Given the description of an element on the screen output the (x, y) to click on. 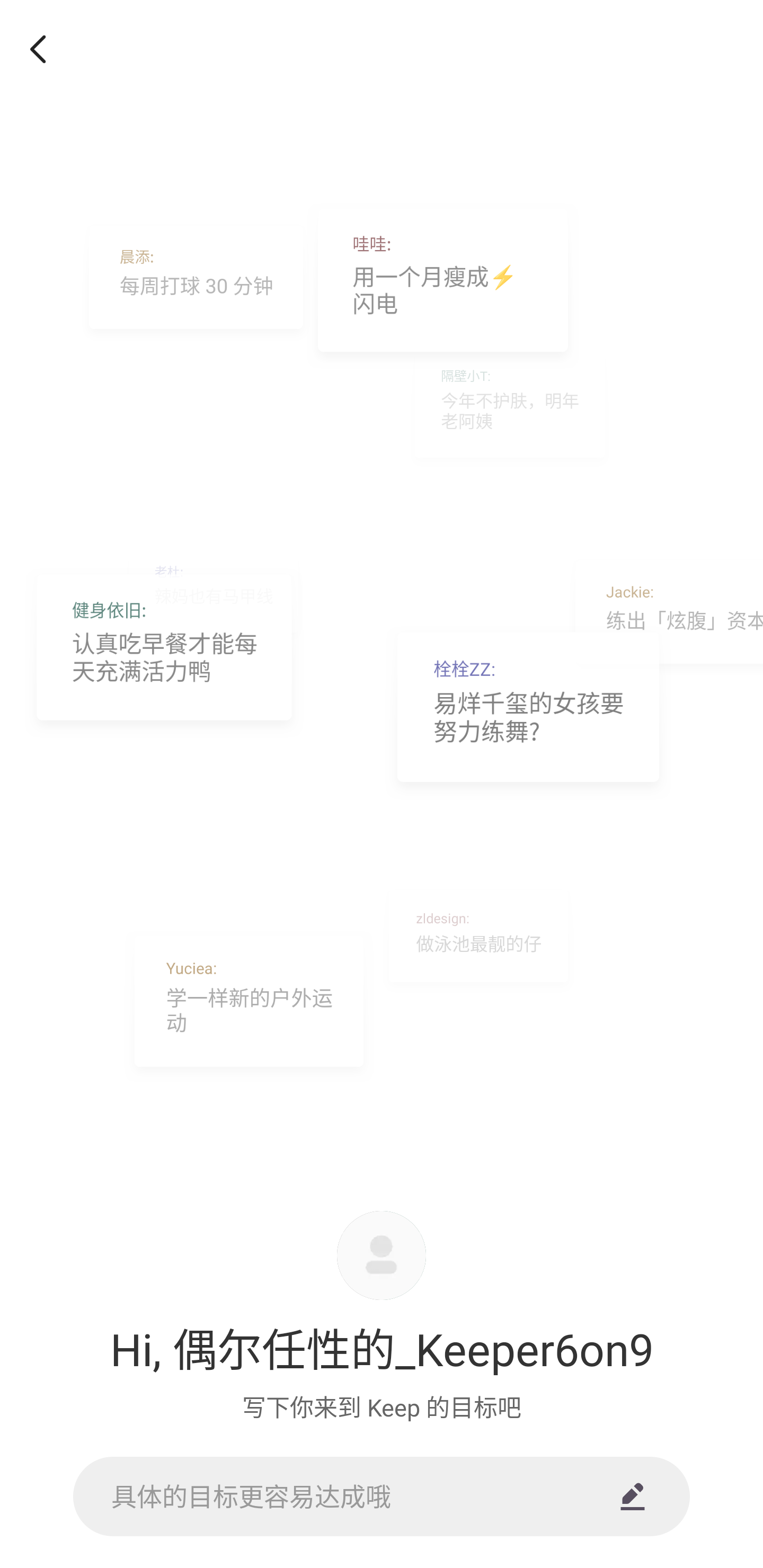
哇哇: (442, 286)
晨添: (195, 282)
Jackie: (663, 616)
健身依旧: (164, 655)
栓栓ZZ: (528, 714)
zldesign: (477, 939)
Yuciea: (248, 1007)
具体的目标更容易达成哦 (381, 1496)
